Given the description of an element on the screen output the (x, y) to click on. 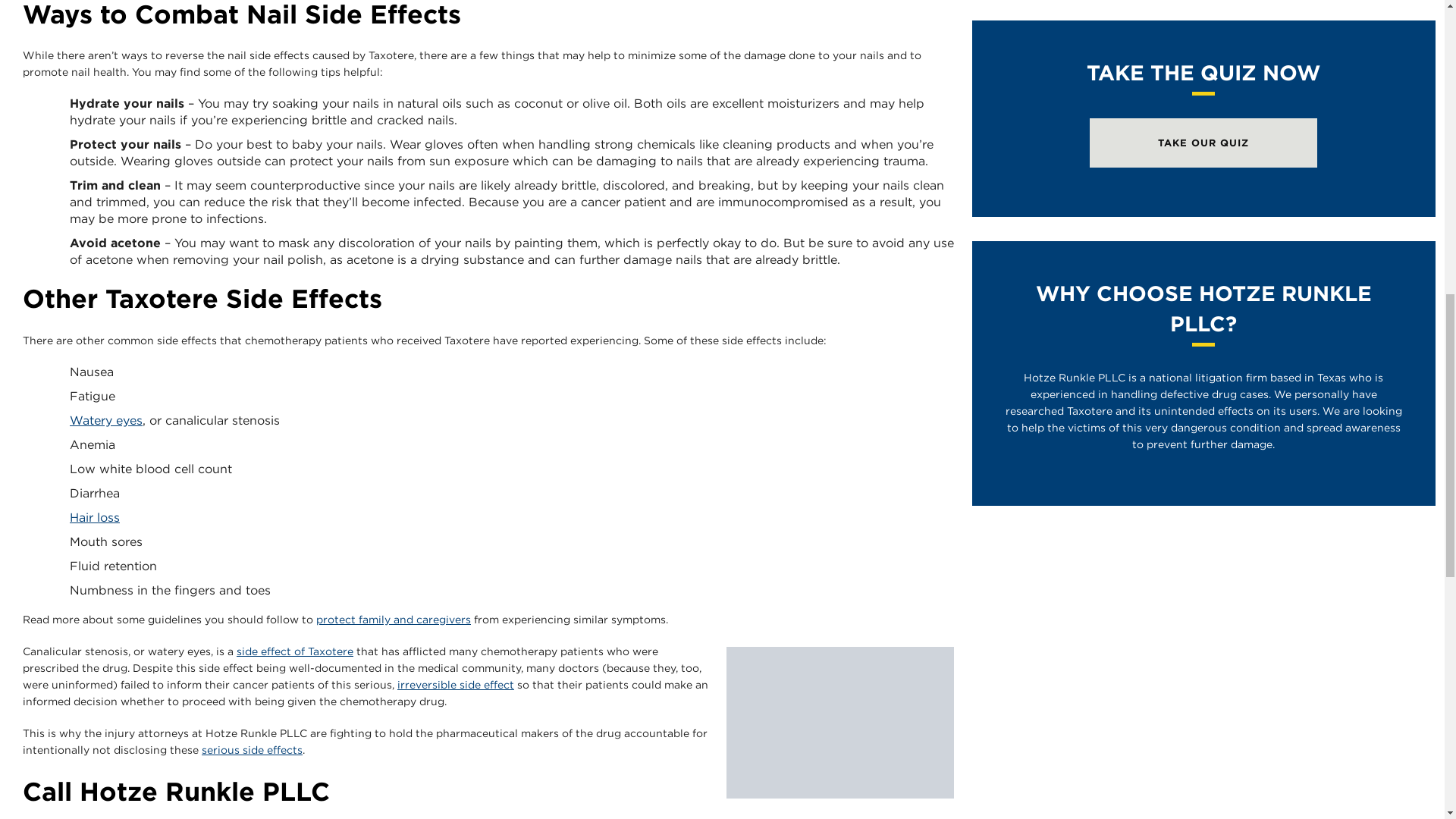
Watery eyes (105, 420)
serious side effects (252, 749)
Hair loss (94, 517)
irreversible side effect (455, 684)
side effect of Taxotere (294, 651)
protect family and caregivers (392, 619)
